Given the description of an element on the screen output the (x, y) to click on. 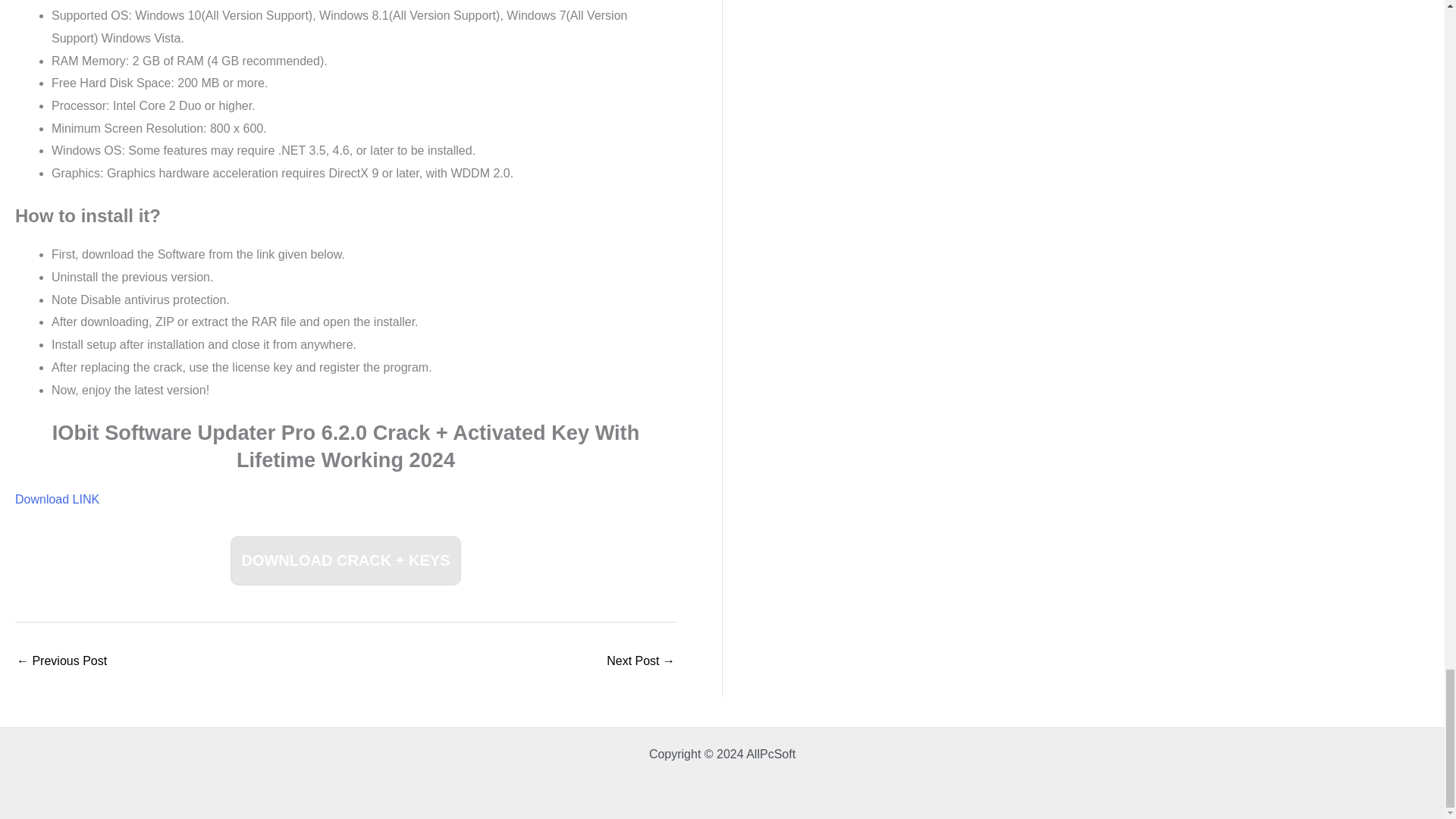
MiniTool Partition Wizard Crack 12.8 With Serial Key Updated (61, 662)
Tomabo MP4 Downloader Pro 4.28.6 Crack One-Click Link Free (641, 662)
Download LINK (56, 499)
